Given the description of an element on the screen output the (x, y) to click on. 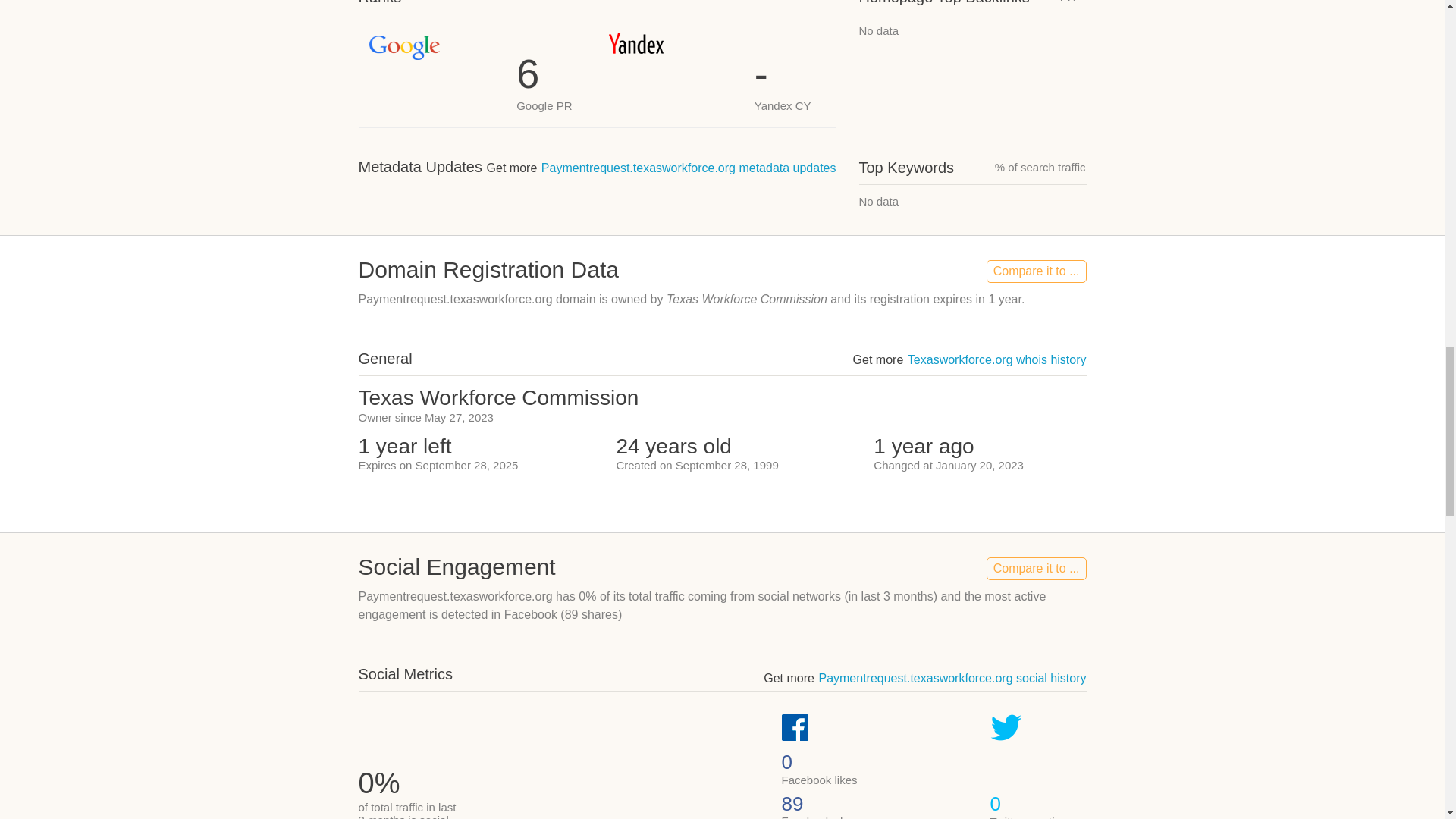
Texasworkforce.org whois history (996, 359)
Compare it to ... (1036, 568)
Paymentrequest.texasworkforce.org metadata updates (688, 167)
Paymentrequest.texasworkforce.org social history (952, 677)
Compare it to ... (1036, 271)
